Given the description of an element on the screen output the (x, y) to click on. 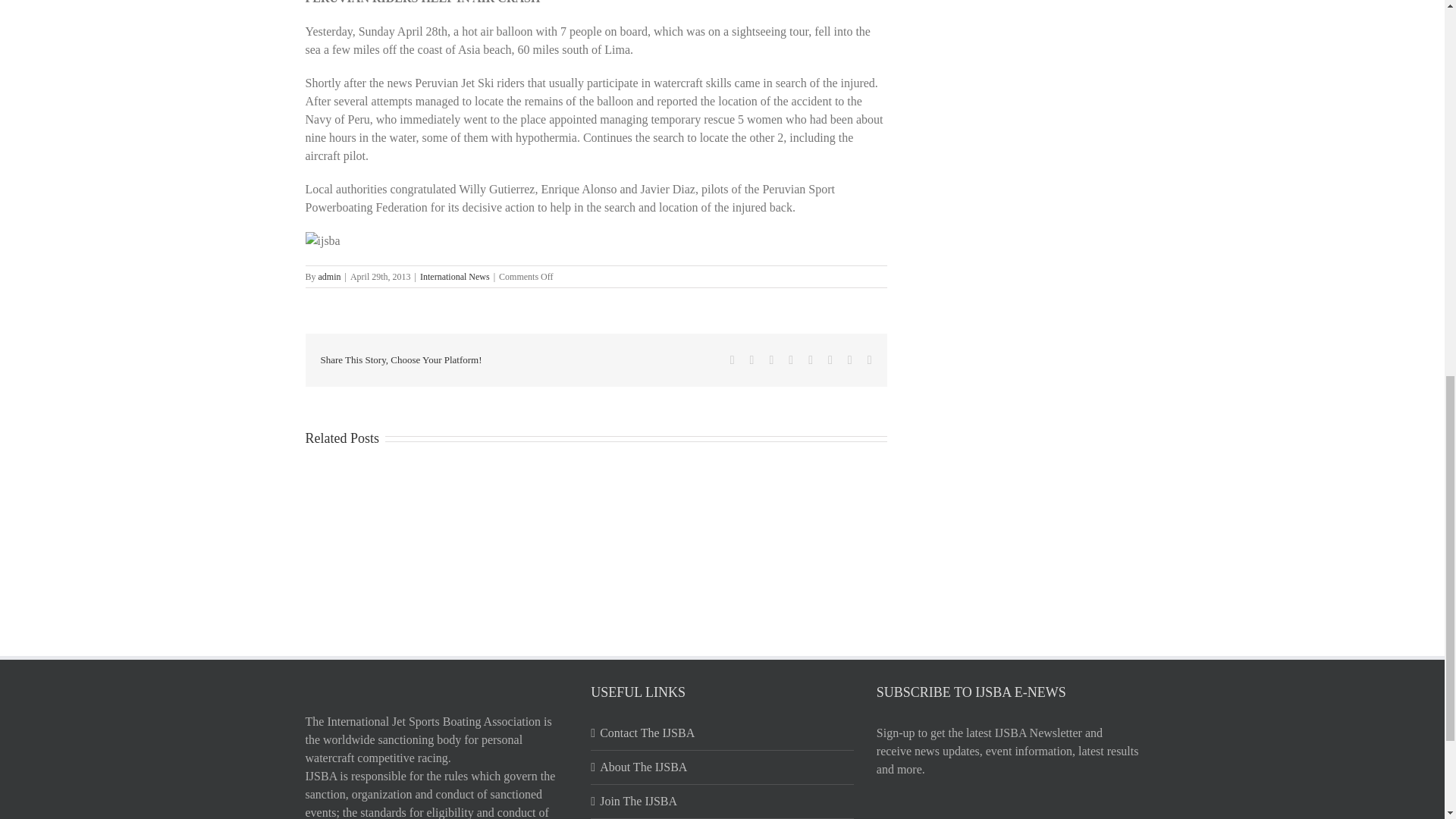
admin (329, 276)
Posts by admin (329, 276)
International News (454, 276)
